Given the description of an element on the screen output the (x, y) to click on. 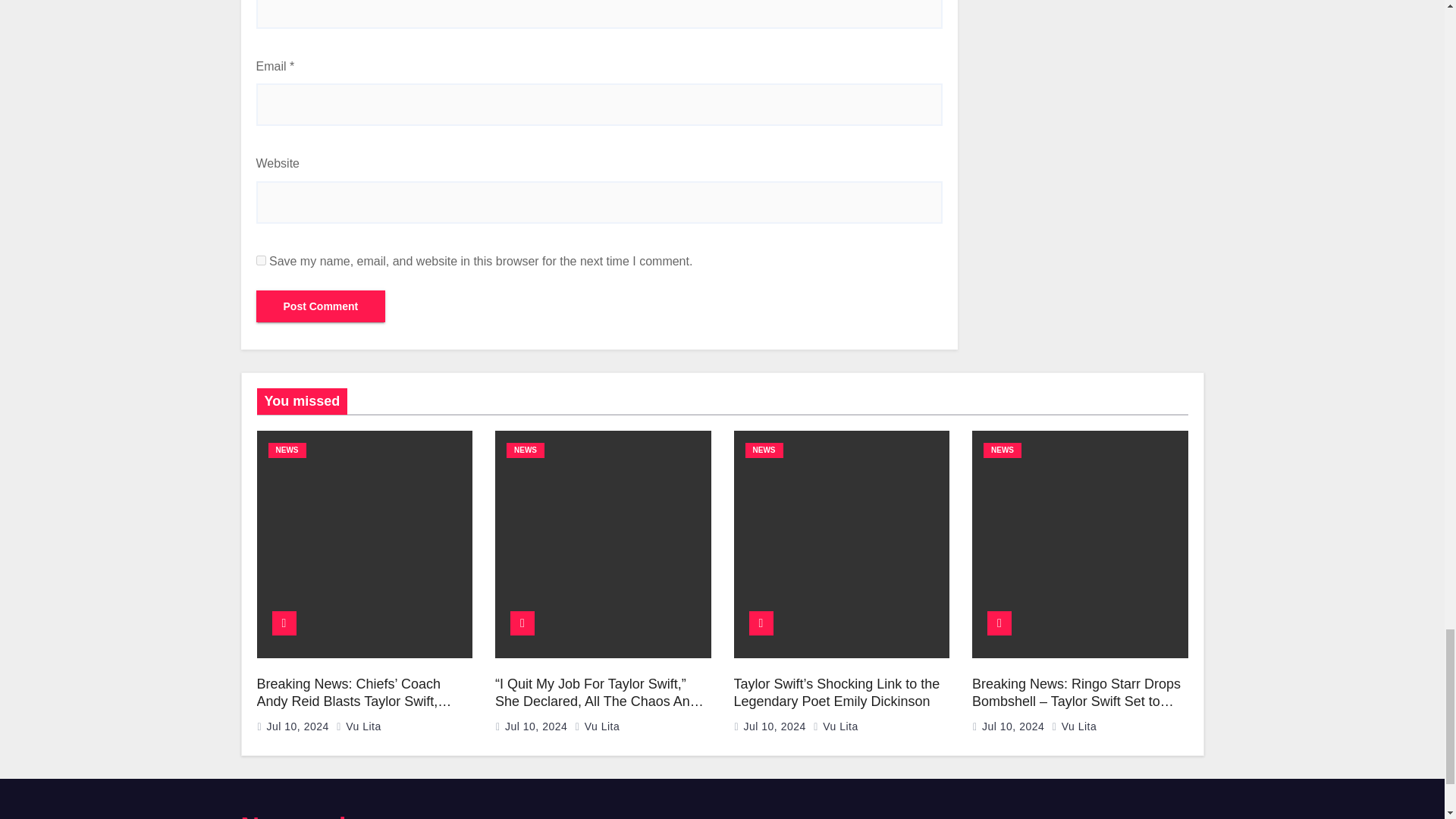
yes (261, 260)
Post Comment (320, 306)
